Given the description of an element on the screen output the (x, y) to click on. 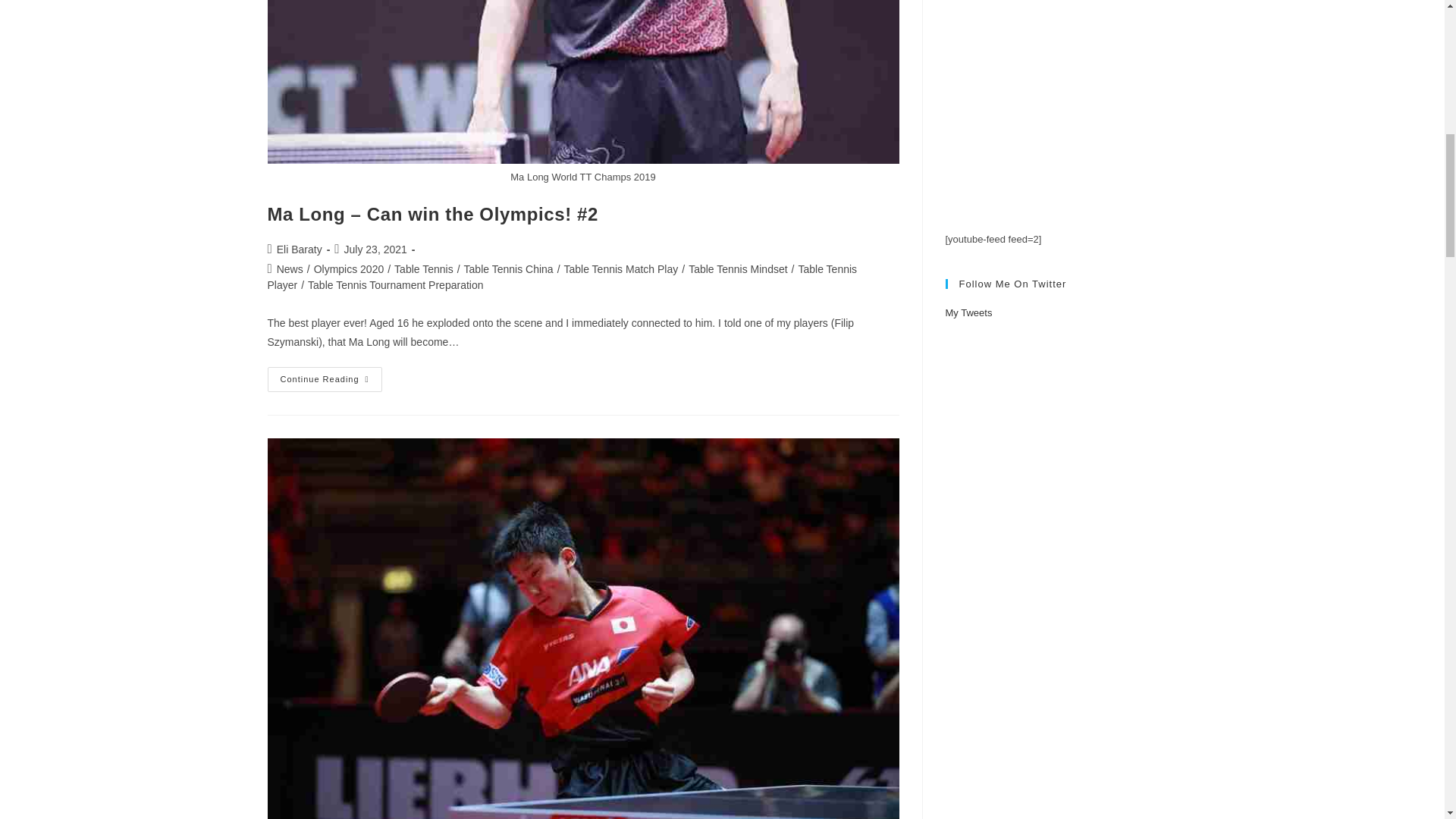
Posts by Eli Baraty (298, 249)
